Given the description of an element on the screen output the (x, y) to click on. 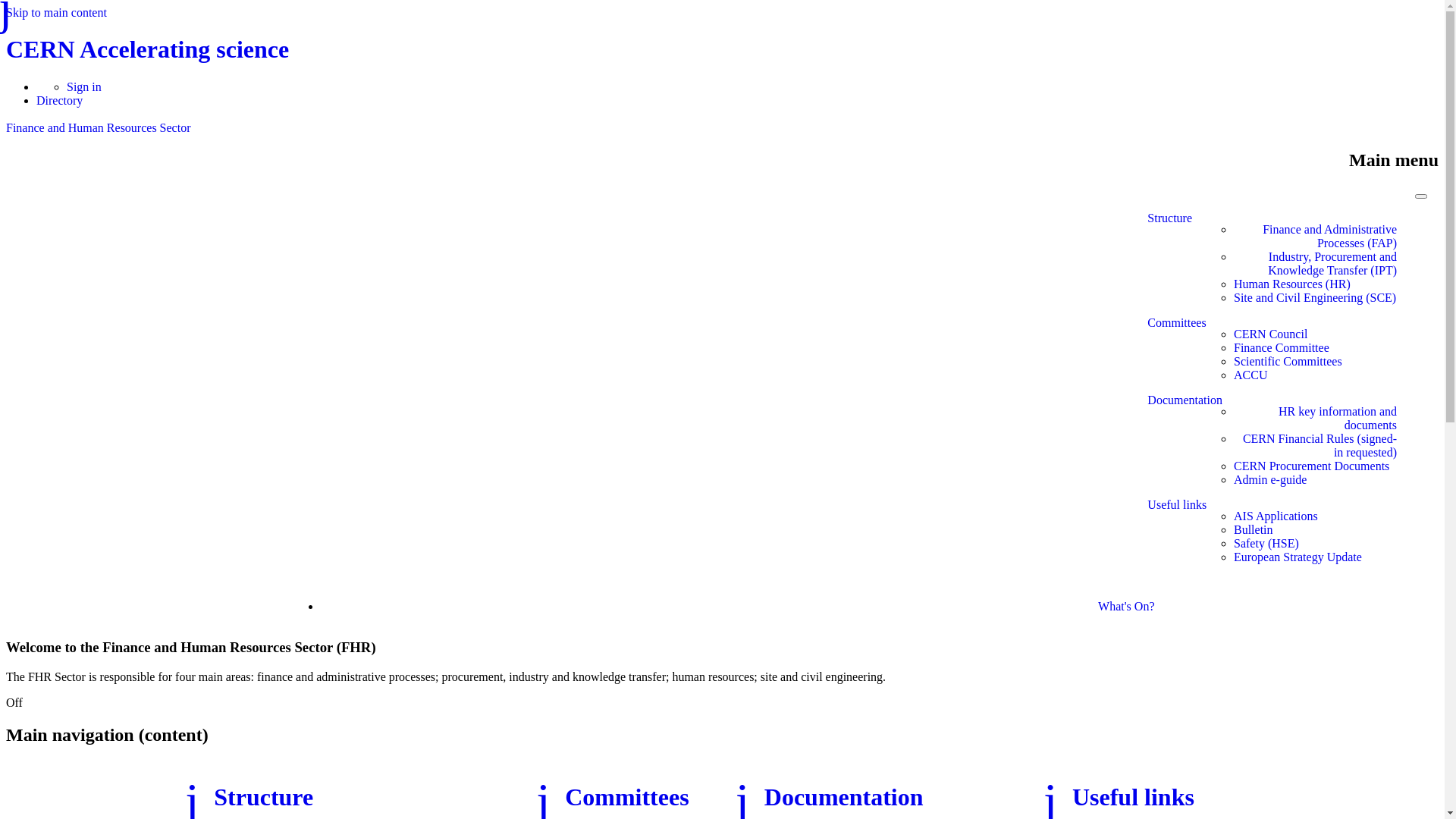
Scientific Committees Element type: text (1287, 361)
CERN Procurement Documents Element type: text (1311, 466)
Structure Element type: text (263, 796)
AIS Applications Element type: text (1275, 516)
Bulletin Element type: text (1253, 529)
CERN Council Element type: text (1270, 334)
Documentation Element type: text (843, 796)
Sign in Element type: text (83, 86)
Admin e-guide Element type: text (1269, 479)
Finance and Human Resources Sector Element type: text (98, 127)
Directory Element type: text (59, 100)
Finance and Administrative Processes (FAP) Element type: text (1314, 236)
Documentation Element type: text (1184, 445)
Committees Element type: text (626, 796)
Toggle navigation Element type: text (1421, 196)
Site and Civil Engineering (SCE) Element type: text (1314, 297)
Skip to main content Element type: text (56, 12)
Committees Element type: text (1176, 354)
ACCU Element type: text (1250, 375)
Industry, Procurement and Knowledge Transfer (IPT) Element type: text (1314, 263)
What's On? Element type: text (1126, 605)
Human Resources (HR) Element type: text (1291, 284)
CERN Accelerating science Element type: text (147, 48)
Useful links Element type: text (1176, 536)
Structure Element type: text (1169, 263)
Safety (HSE) Element type: text (1266, 543)
European Strategy Update Element type: text (1297, 557)
Useful links Element type: text (1133, 796)
CERN Financial Rules (signed-in requested) Element type: text (1314, 445)
HR key information and documents Element type: text (1314, 418)
Finance Committee Element type: text (1281, 347)
